Given the description of an element on the screen output the (x, y) to click on. 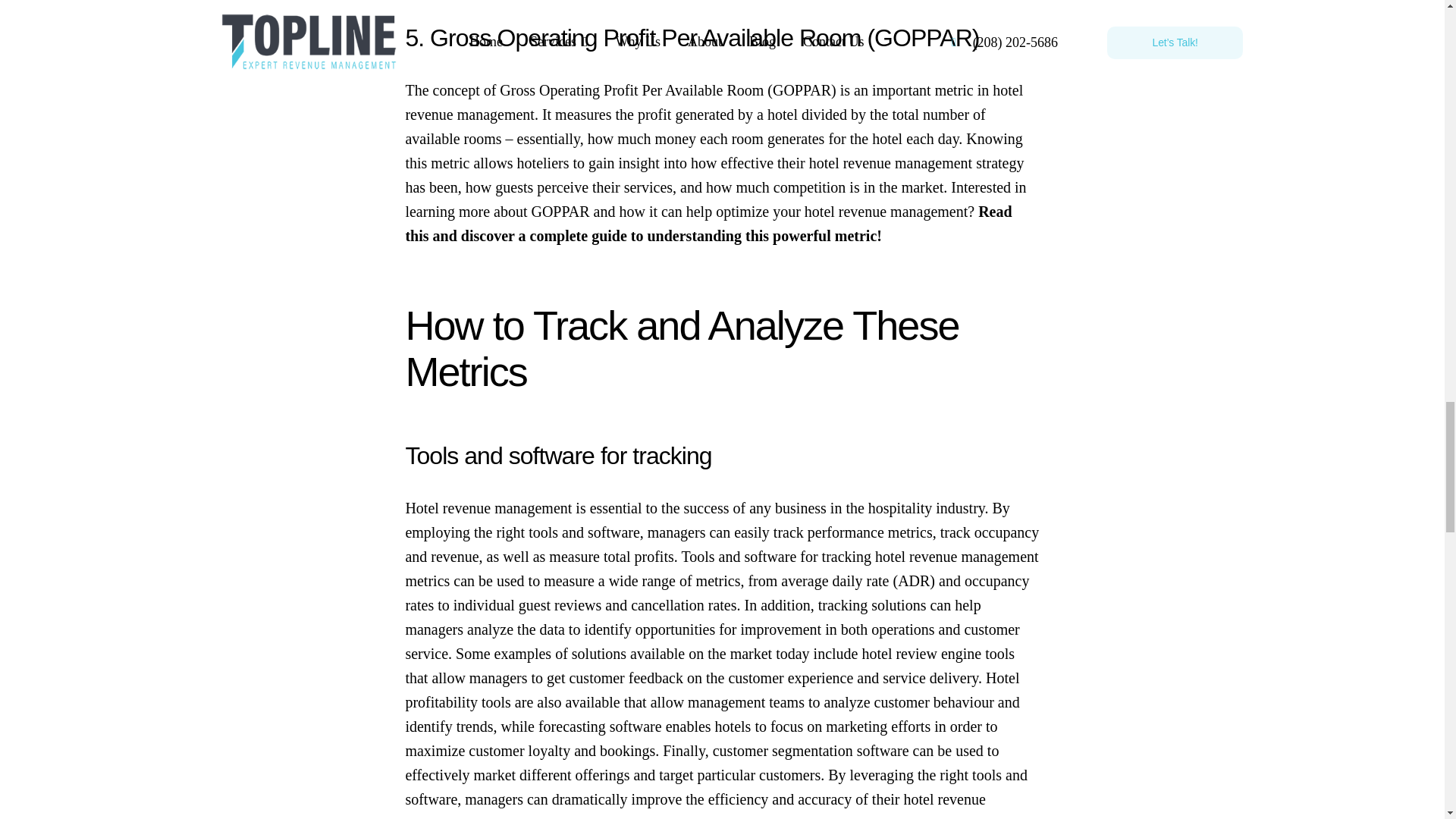
this (416, 235)
